Given the description of an element on the screen output the (x, y) to click on. 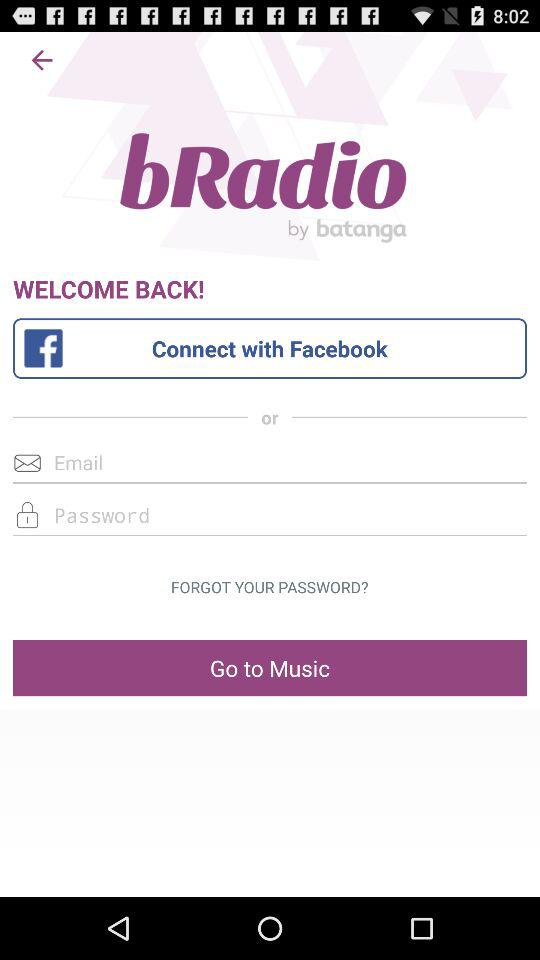
button to return to the previous menu (41, 60)
